Given the description of an element on the screen output the (x, y) to click on. 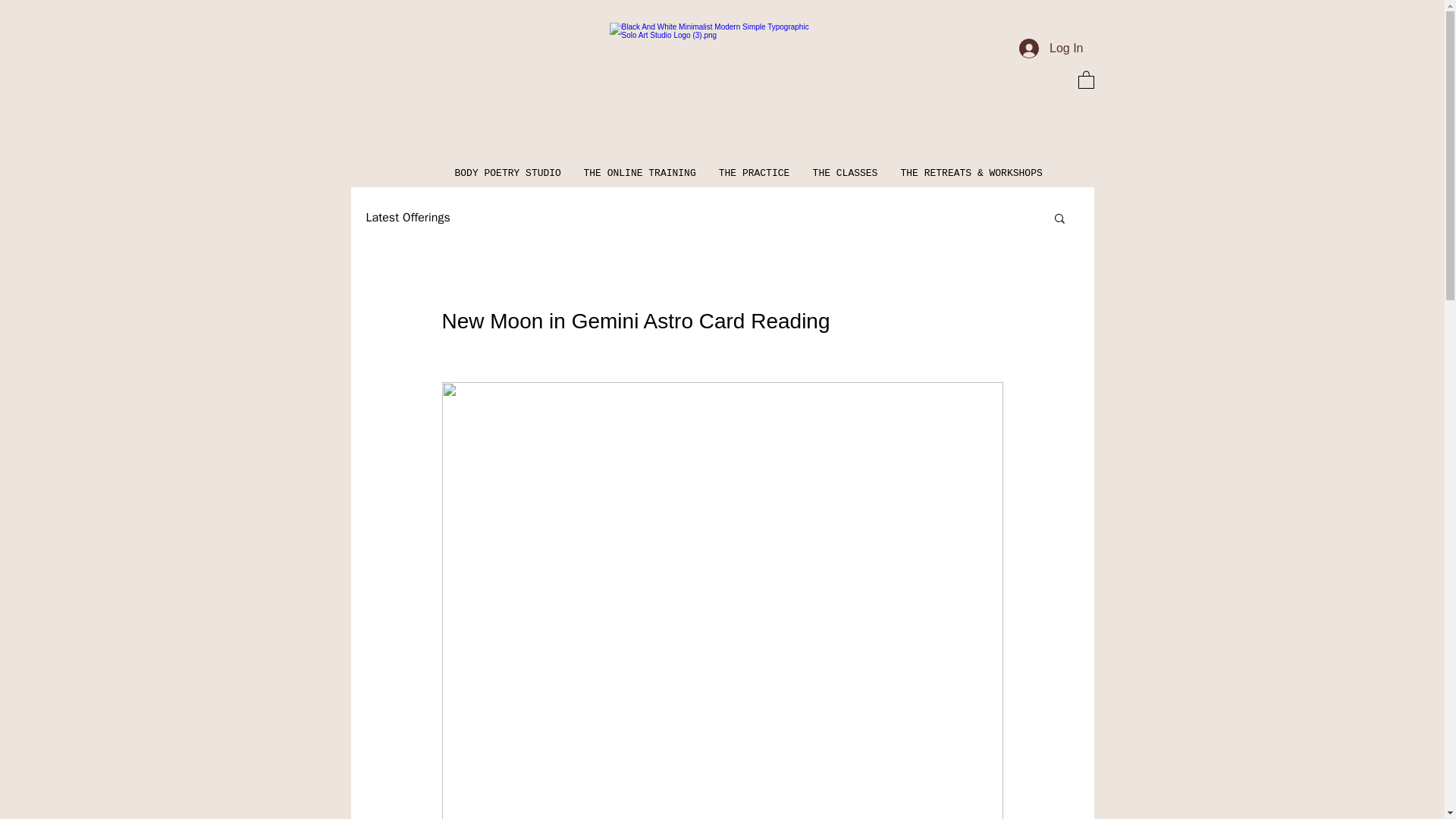
THE ONLINE TRAINING (639, 173)
THE PRACTICE (753, 173)
THE CLASSES (844, 173)
BODY POETRY STUDIO (507, 173)
Black And White Minimalist Modern Simple (711, 92)
Log In (1051, 48)
Latest Offerings (407, 217)
